Given the description of an element on the screen output the (x, y) to click on. 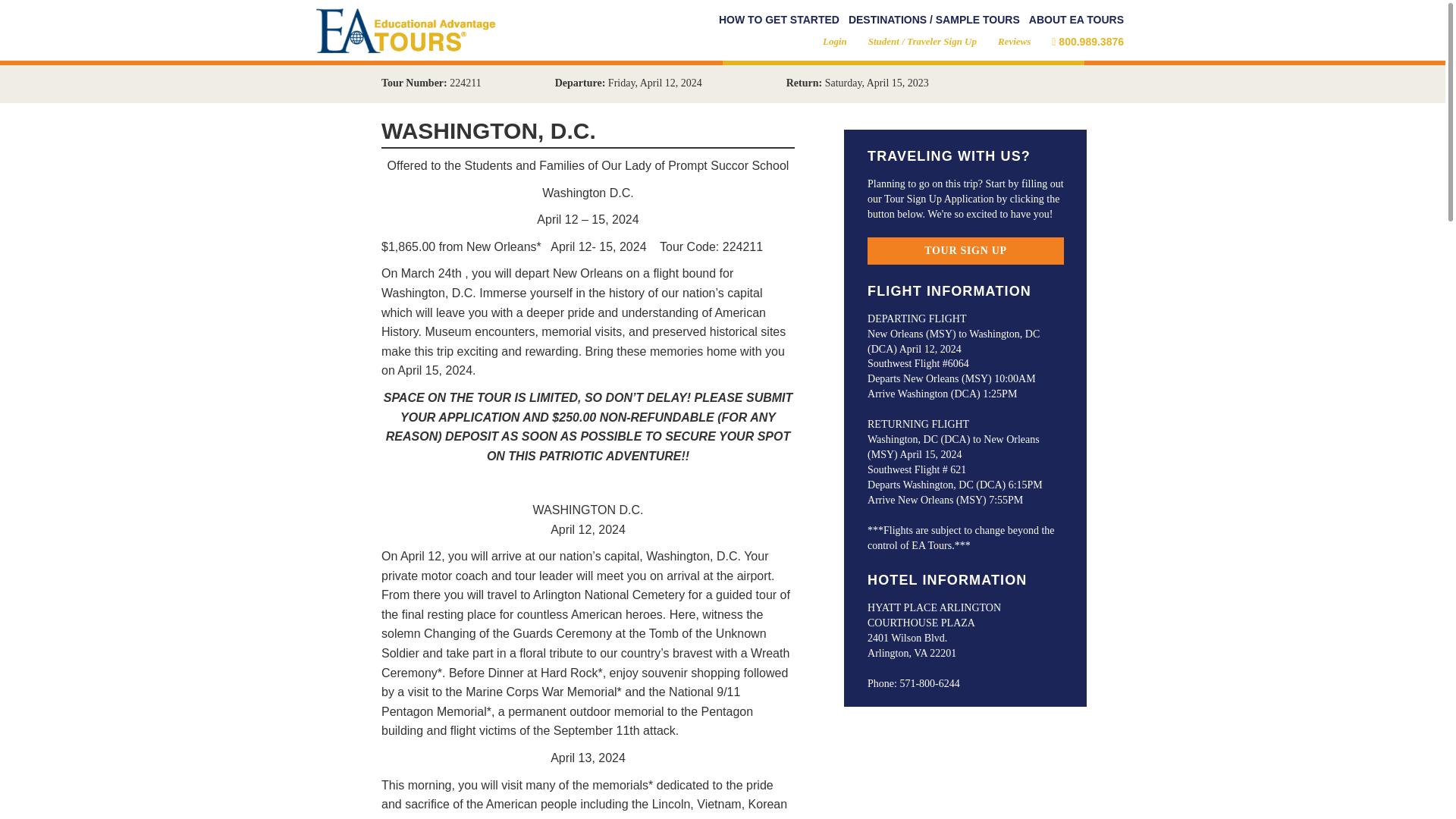
HOW TO GET STARTED (779, 19)
ABOUT EA TOURS (1076, 19)
Reviews (1013, 41)
Login (834, 41)
800.989.3876 (1087, 41)
Destinations (934, 19)
Get Started (779, 19)
About EA Tours (1076, 19)
